Given the description of an element on the screen output the (x, y) to click on. 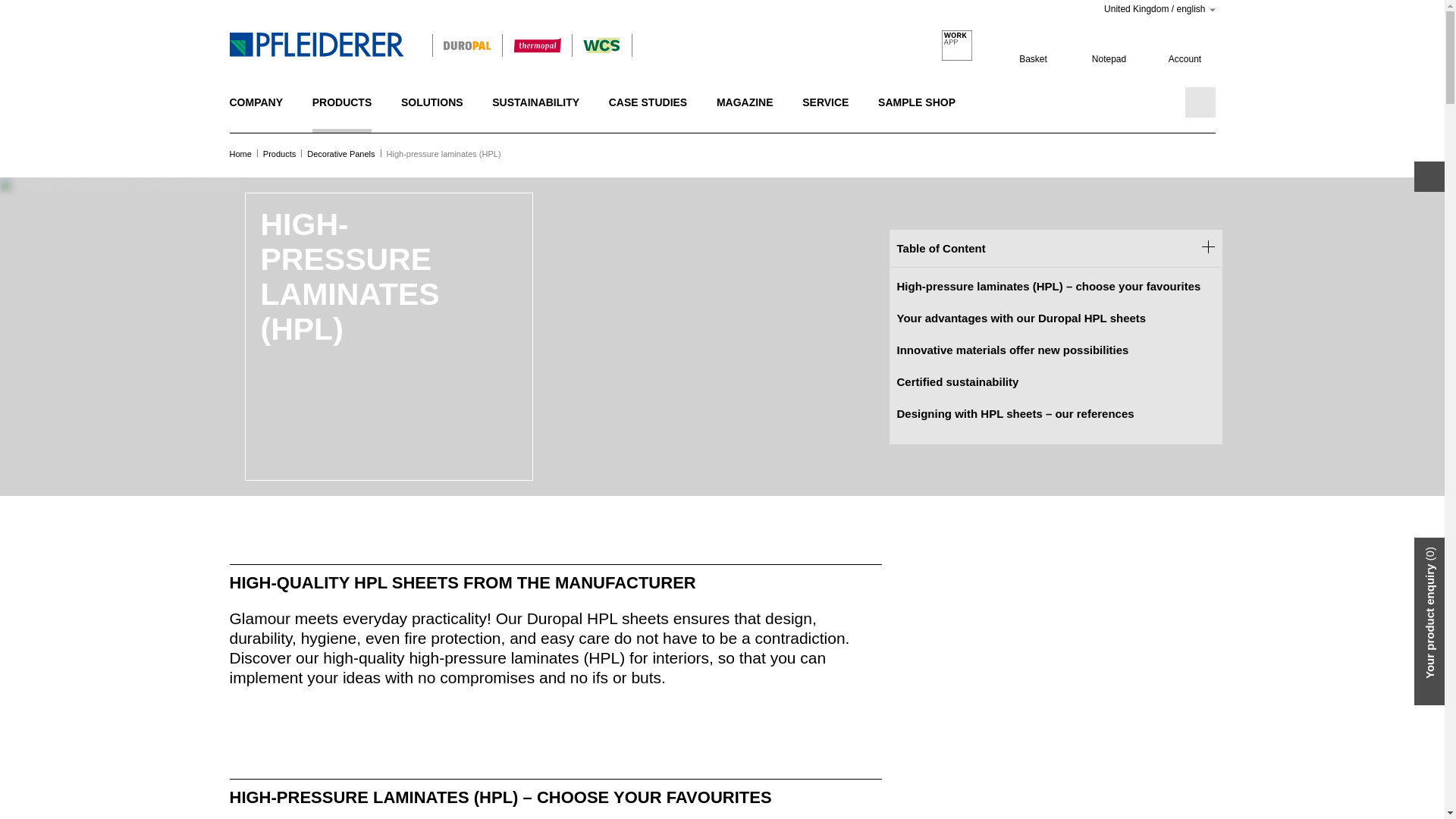
Basket (1032, 47)
SERVICE (825, 109)
PRODUCTS (342, 109)
CASE STUDIES (647, 109)
MAGAZINE (744, 109)
SAMPLE SHOP (916, 109)
SUSTAINABILITY (535, 109)
COMPANY (255, 109)
Account (1185, 47)
SOLUTIONS (432, 109)
